Given the description of an element on the screen output the (x, y) to click on. 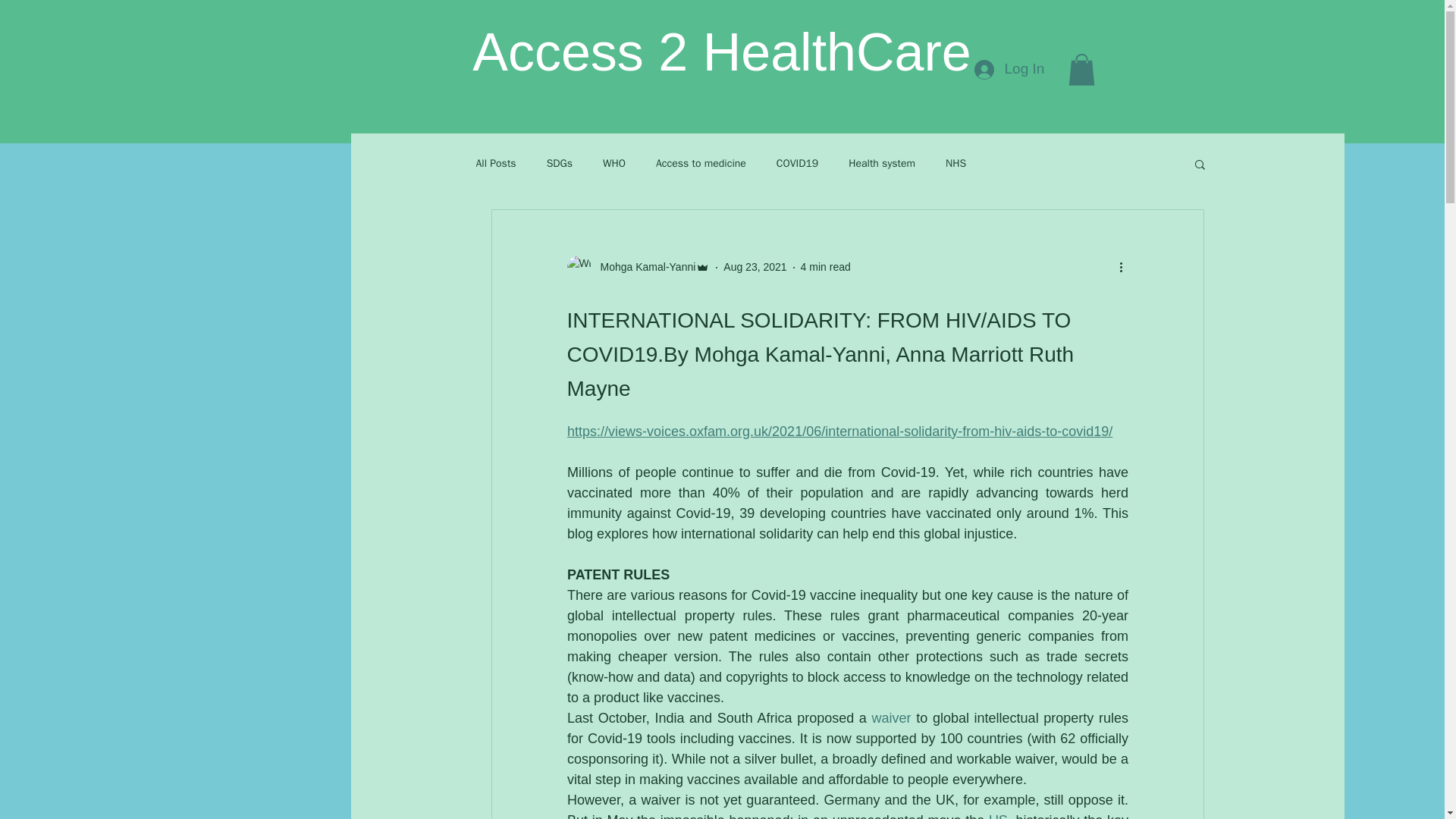
All Posts (496, 163)
Mohga Kamal-Yanni (638, 267)
waiver (890, 717)
Access to medicine (700, 163)
Aug 23, 2021 (754, 266)
NHS (955, 163)
Health system (881, 163)
US (997, 816)
WHO (614, 163)
4 min read (825, 266)
SDGs (559, 163)
COVID19 (797, 163)
Log In (1008, 69)
Mohga Kamal-Yanni (643, 267)
